Given the description of an element on the screen output the (x, y) to click on. 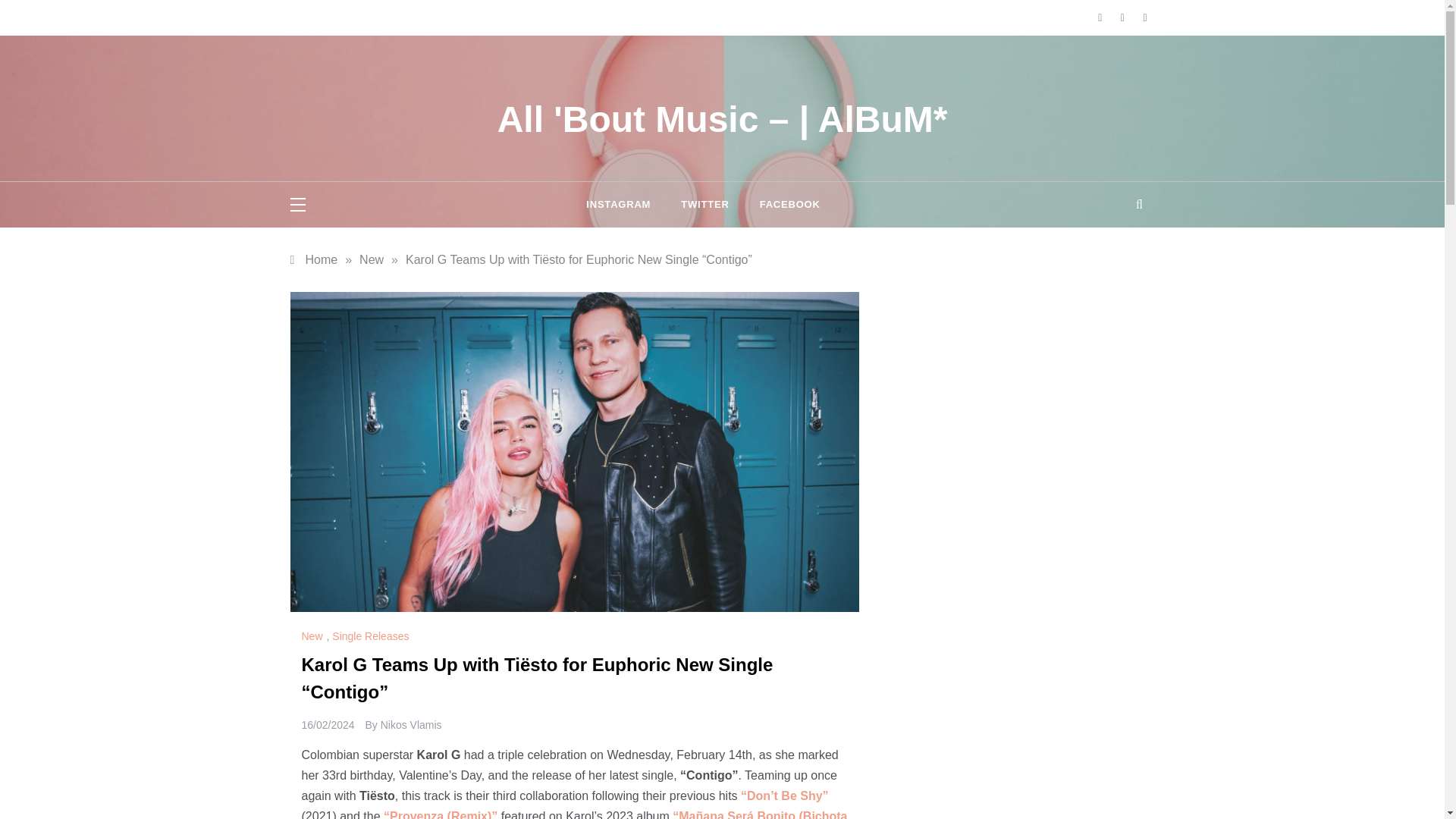
INSTAGRAM (625, 204)
Nikos Vlamis (411, 725)
FACEBOOK (782, 204)
TWITTER (704, 204)
Single Releases (371, 635)
New (313, 635)
New (371, 259)
Home (313, 259)
